Given the description of an element on the screen output the (x, y) to click on. 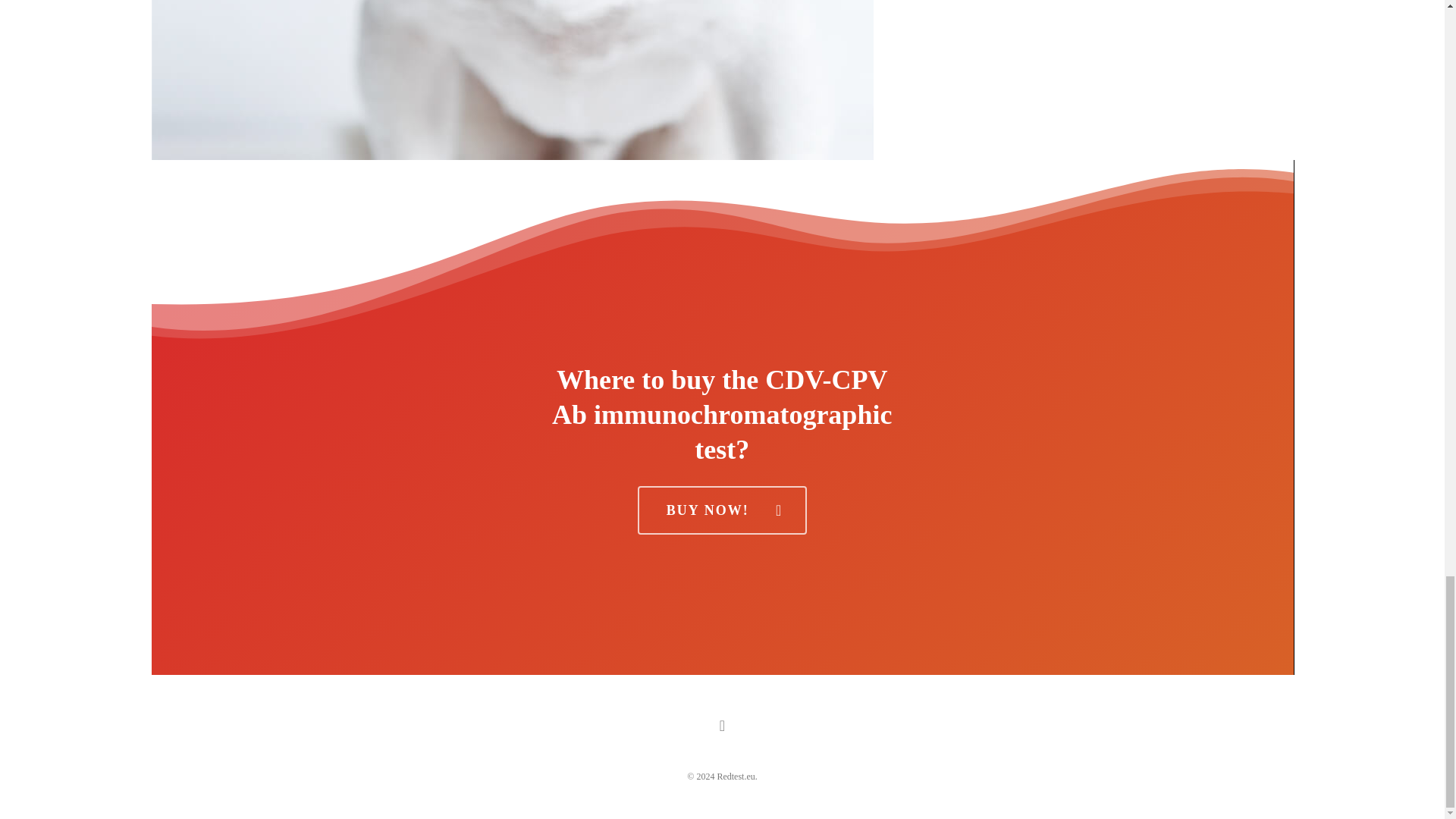
BUY NOW! (721, 510)
